Given the description of an element on the screen output the (x, y) to click on. 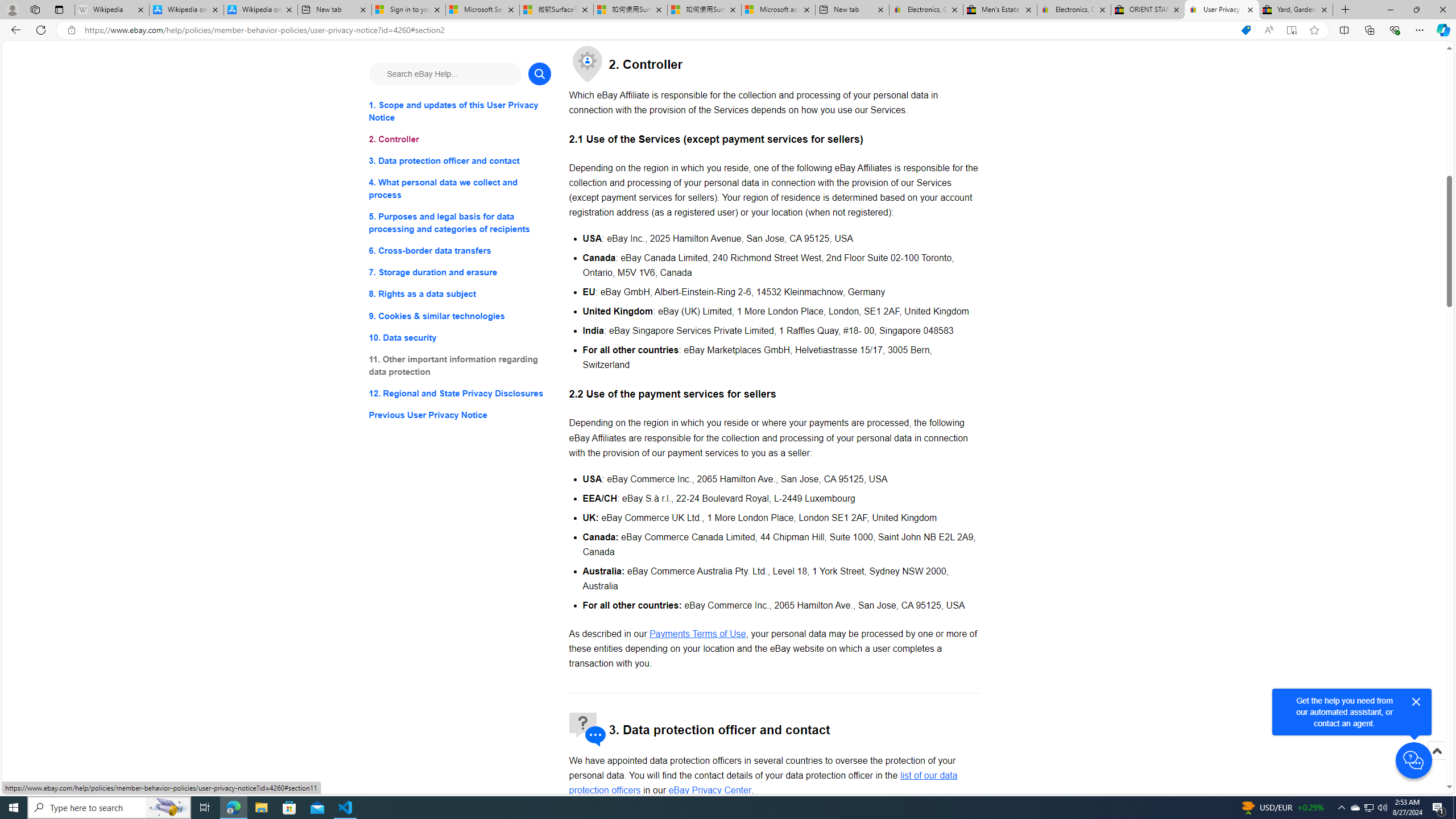
4. What personal data we collect and process (459, 189)
12. Regional and State Privacy Disclosures (459, 392)
2. Controller (459, 138)
